Given the description of an element on the screen output the (x, y) to click on. 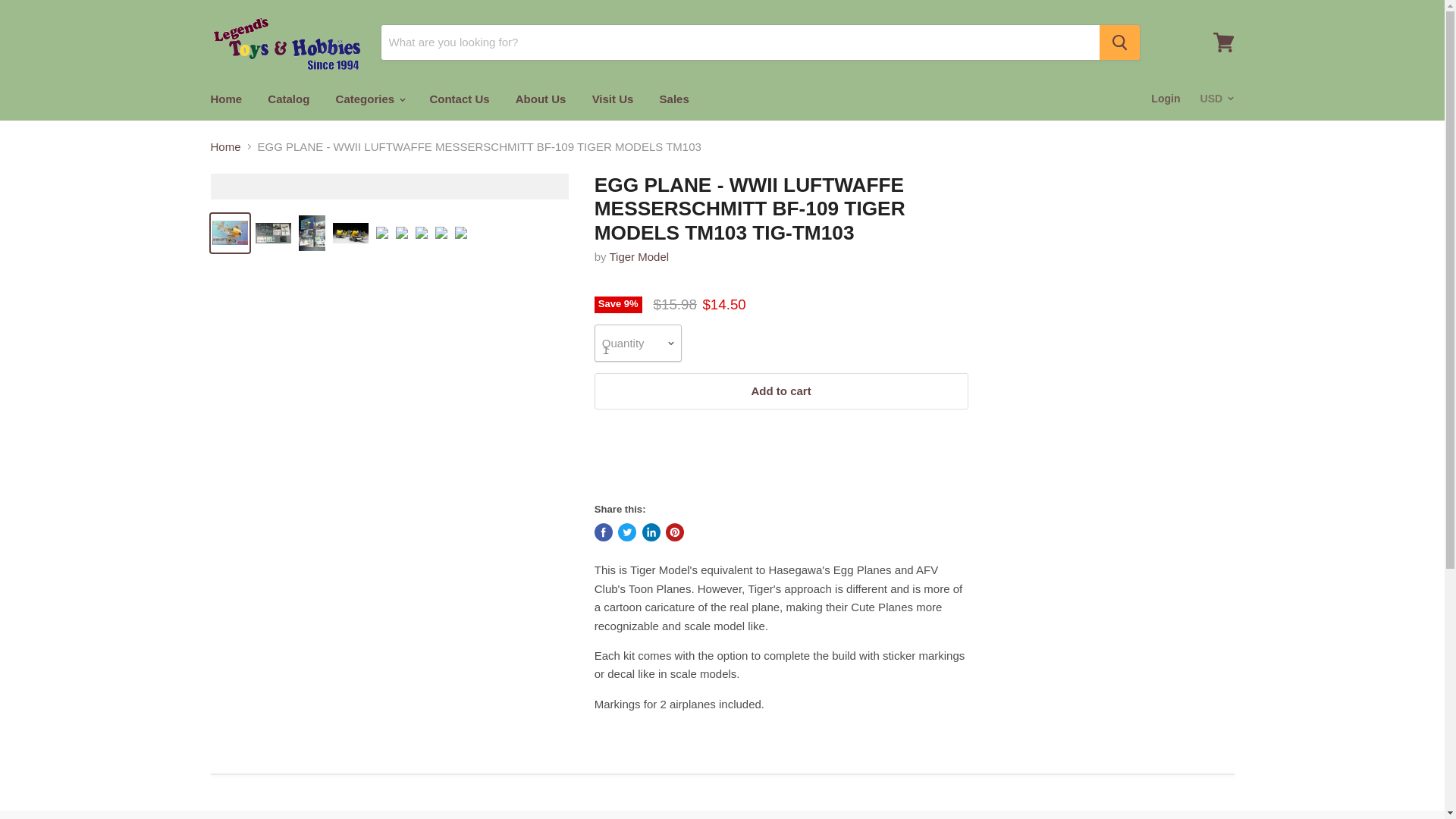
Home (225, 98)
Catalog (288, 98)
Tiger Model (639, 256)
Categories (369, 98)
View cart (1223, 42)
